Given the description of an element on the screen output the (x, y) to click on. 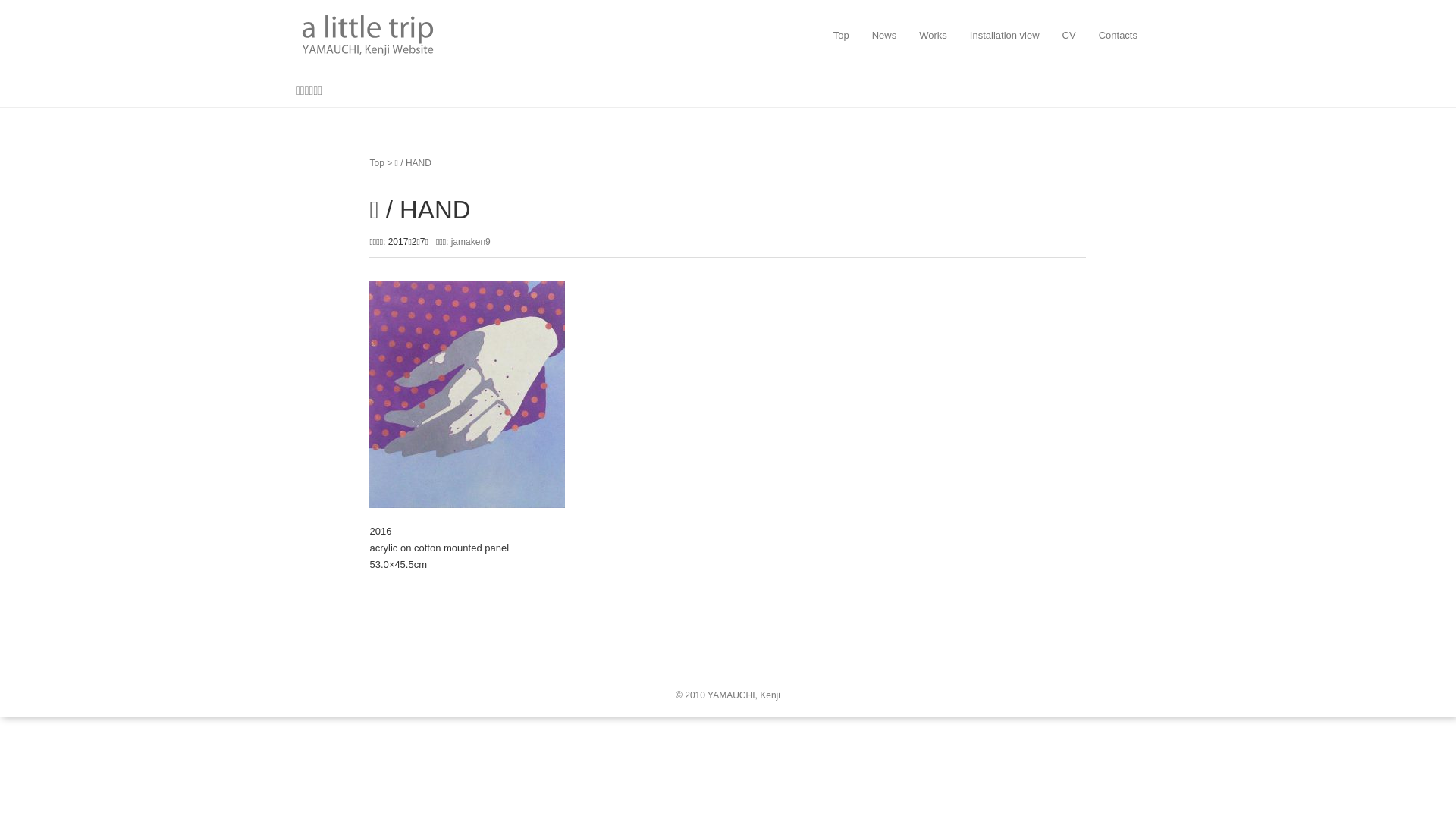
CV Element type: text (1069, 35)
twitter Element type: text (301, 652)
facebook Element type: text (325, 652)
jamaken9 Element type: text (470, 241)
Top Element type: text (376, 162)
Works Element type: text (932, 35)
News Element type: text (884, 35)
Top Element type: text (841, 35)
Contacts Element type: text (1117, 35)
Installation view Element type: text (1004, 35)
